Given the description of an element on the screen output the (x, y) to click on. 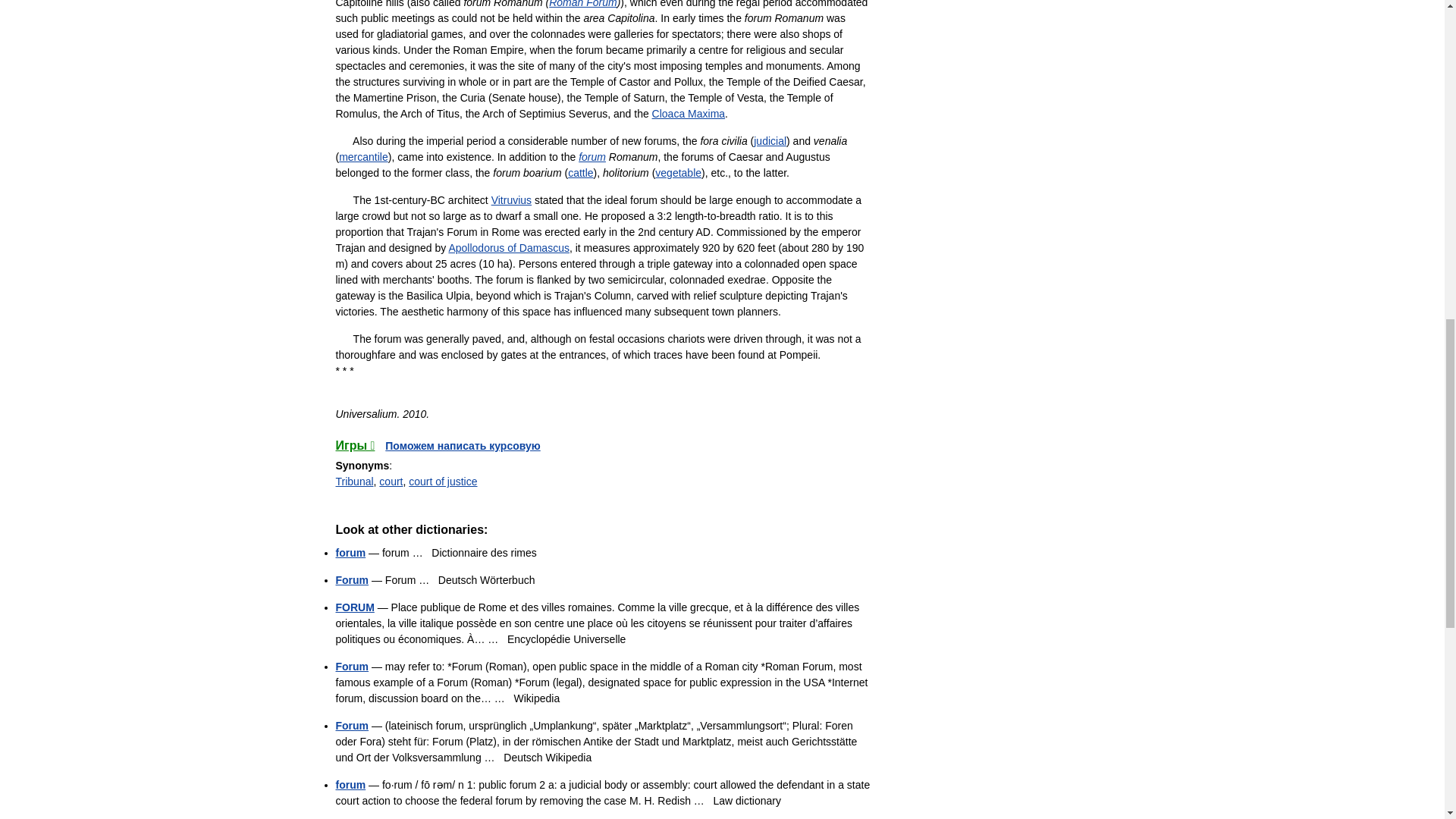
judicial (770, 141)
Roman Forum (581, 4)
Tribunal (353, 481)
vegetable (678, 173)
forum (591, 156)
Apollodorus of Damascus (508, 247)
cattle (579, 173)
Cloaca Maxima (688, 113)
mercantile (363, 156)
Vitruvius (511, 200)
